Given the description of an element on the screen output the (x, y) to click on. 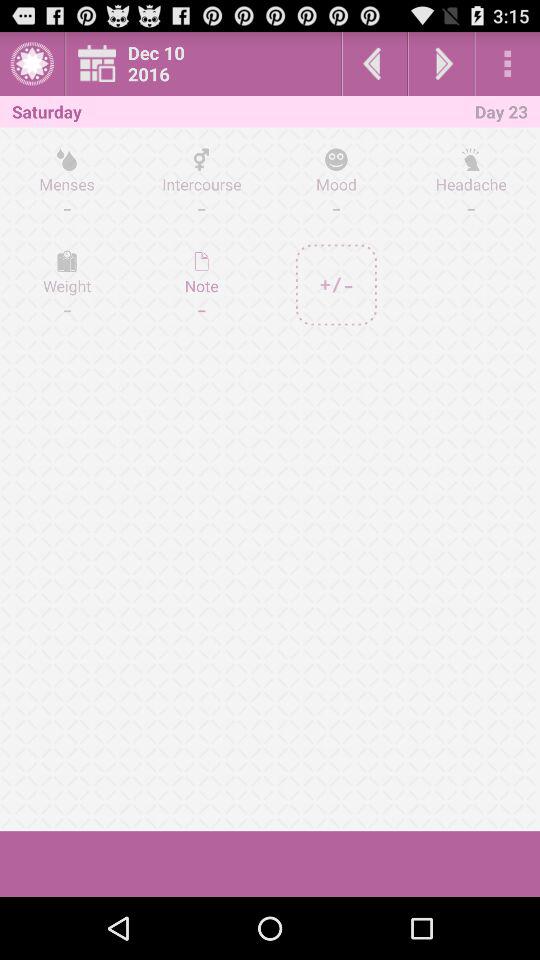
open item to the right of the mood
_ (470, 183)
